Given the description of an element on the screen output the (x, y) to click on. 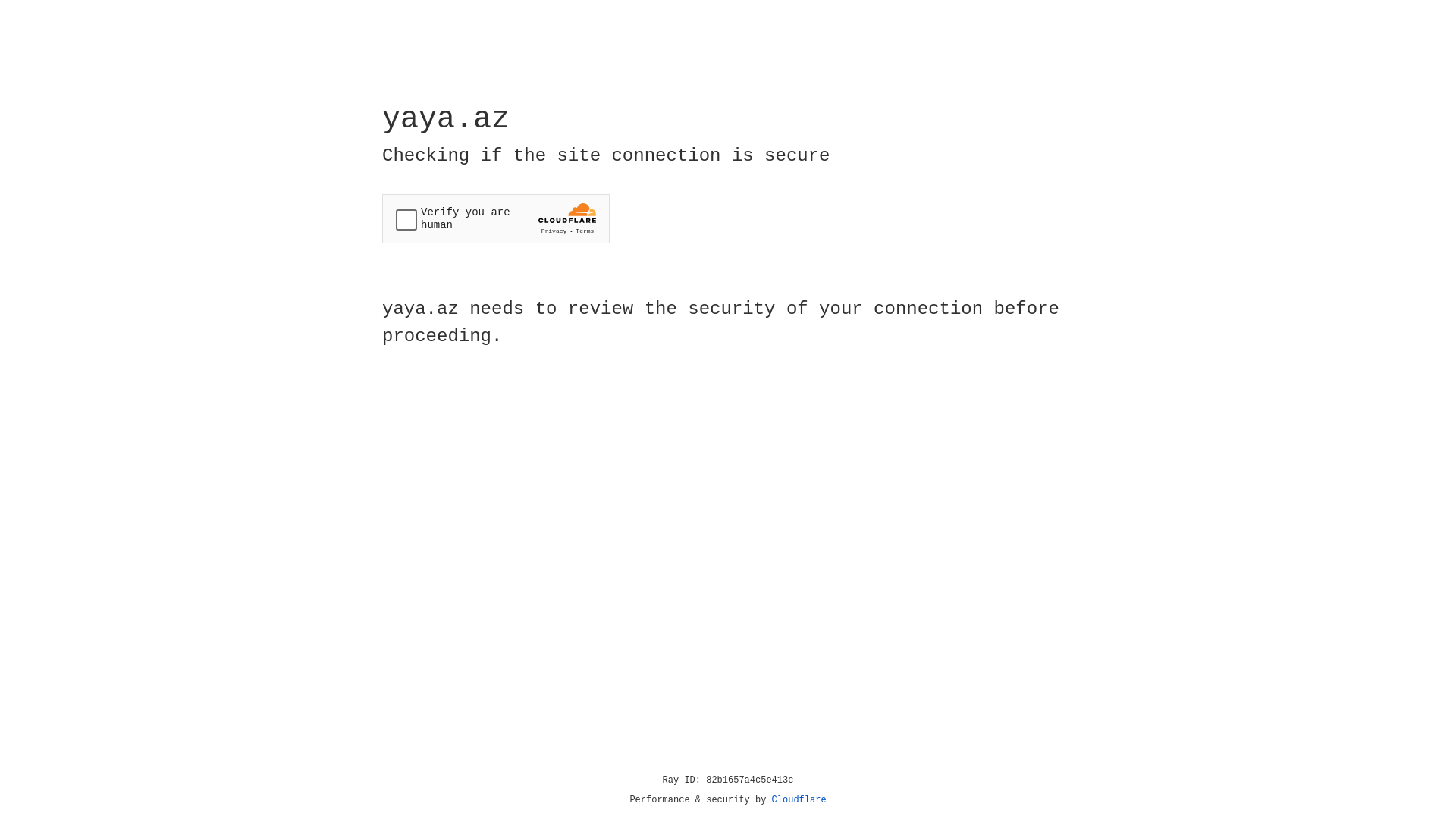
Cloudflare Element type: text (798, 799)
Widget containing a Cloudflare security challenge Element type: hover (495, 218)
